Given the description of an element on the screen output the (x, y) to click on. 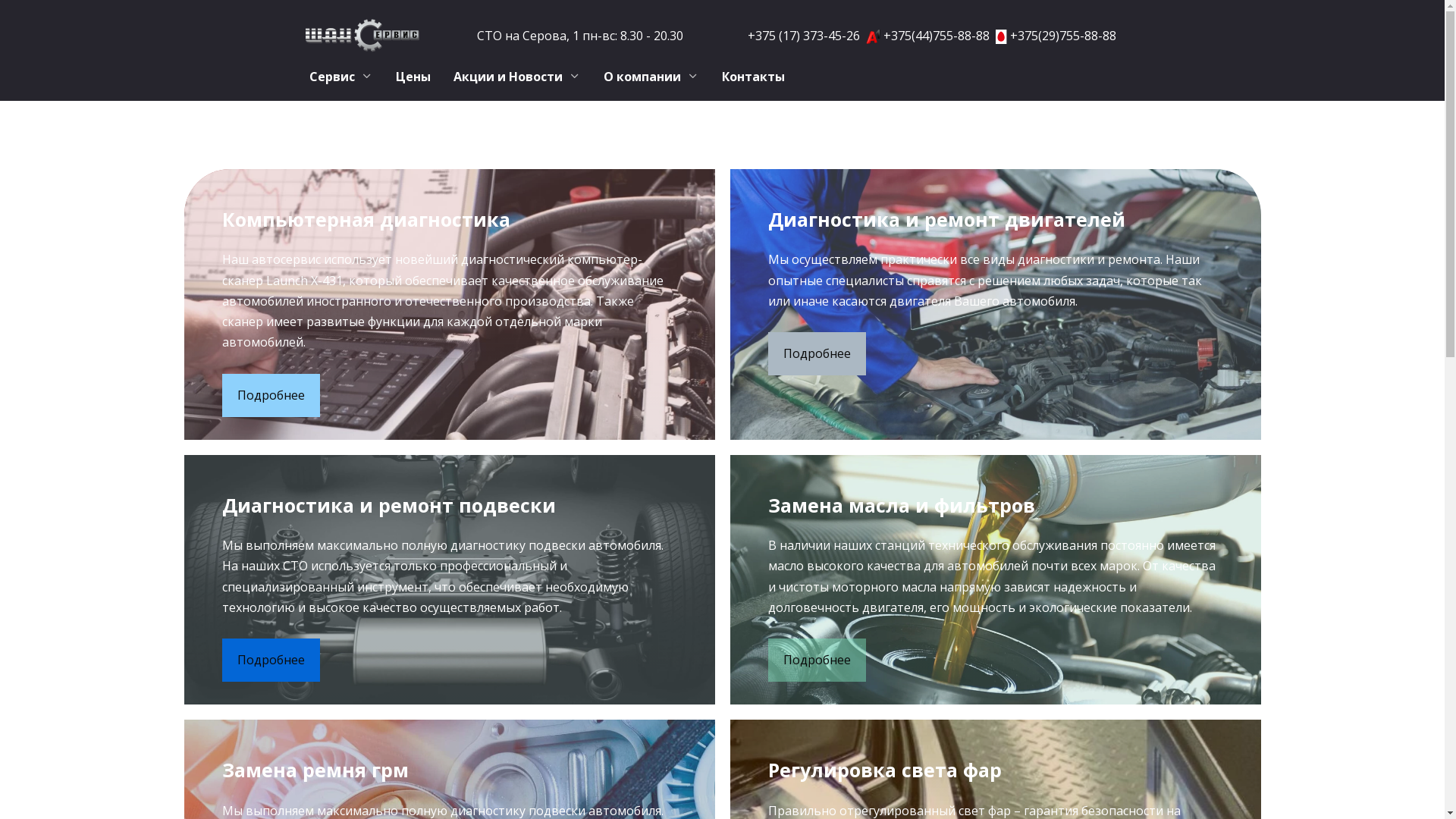
+375 (17) 373-45-26 Element type: text (803, 35)
+375(29)755-88-88 Element type: text (1063, 35)
+375(44)755-88-88 Element type: text (936, 35)
